Given the description of an element on the screen output the (x, y) to click on. 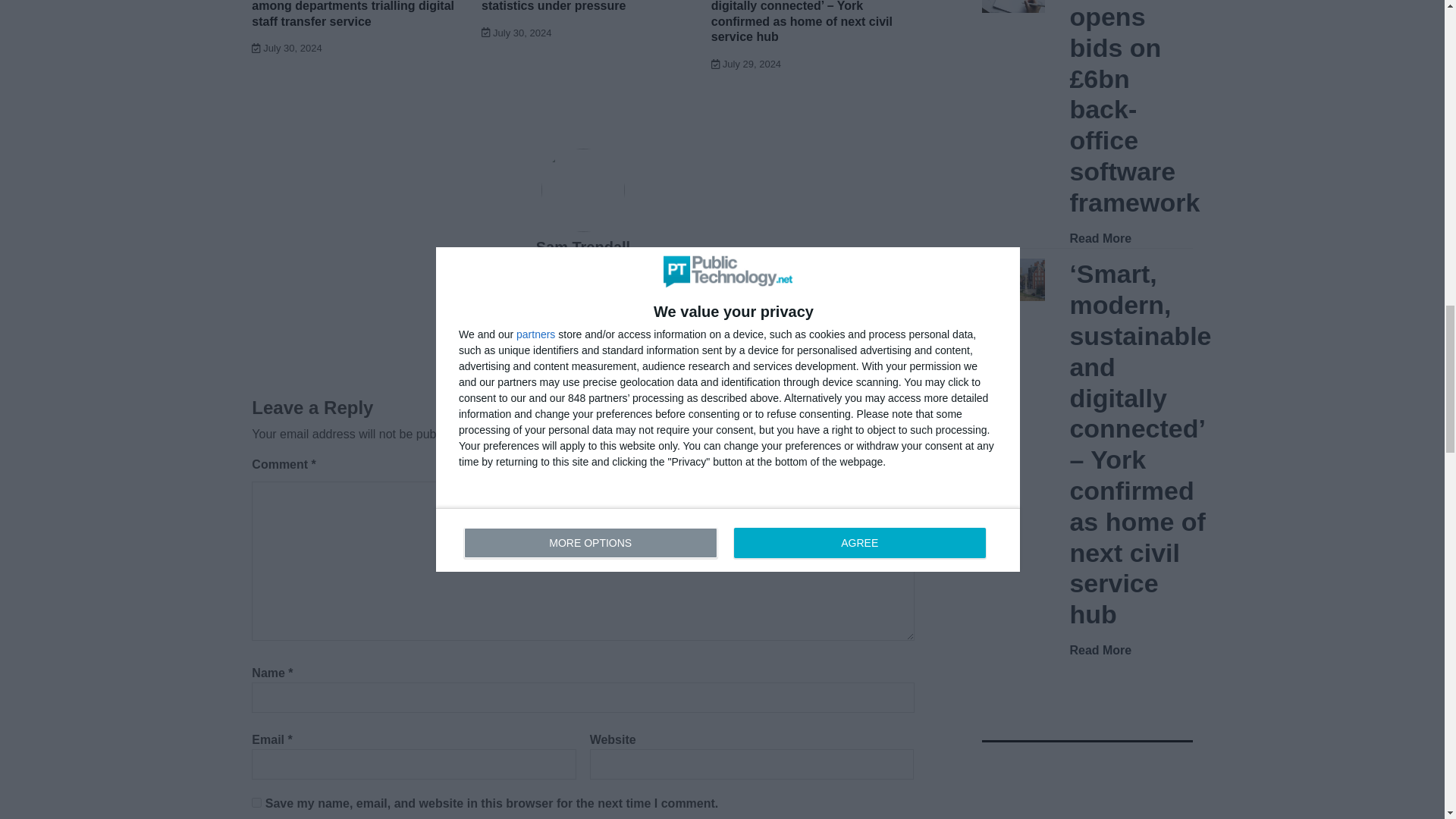
yes (256, 802)
July 30, 2024 (286, 48)
